Given the description of an element on the screen output the (x, y) to click on. 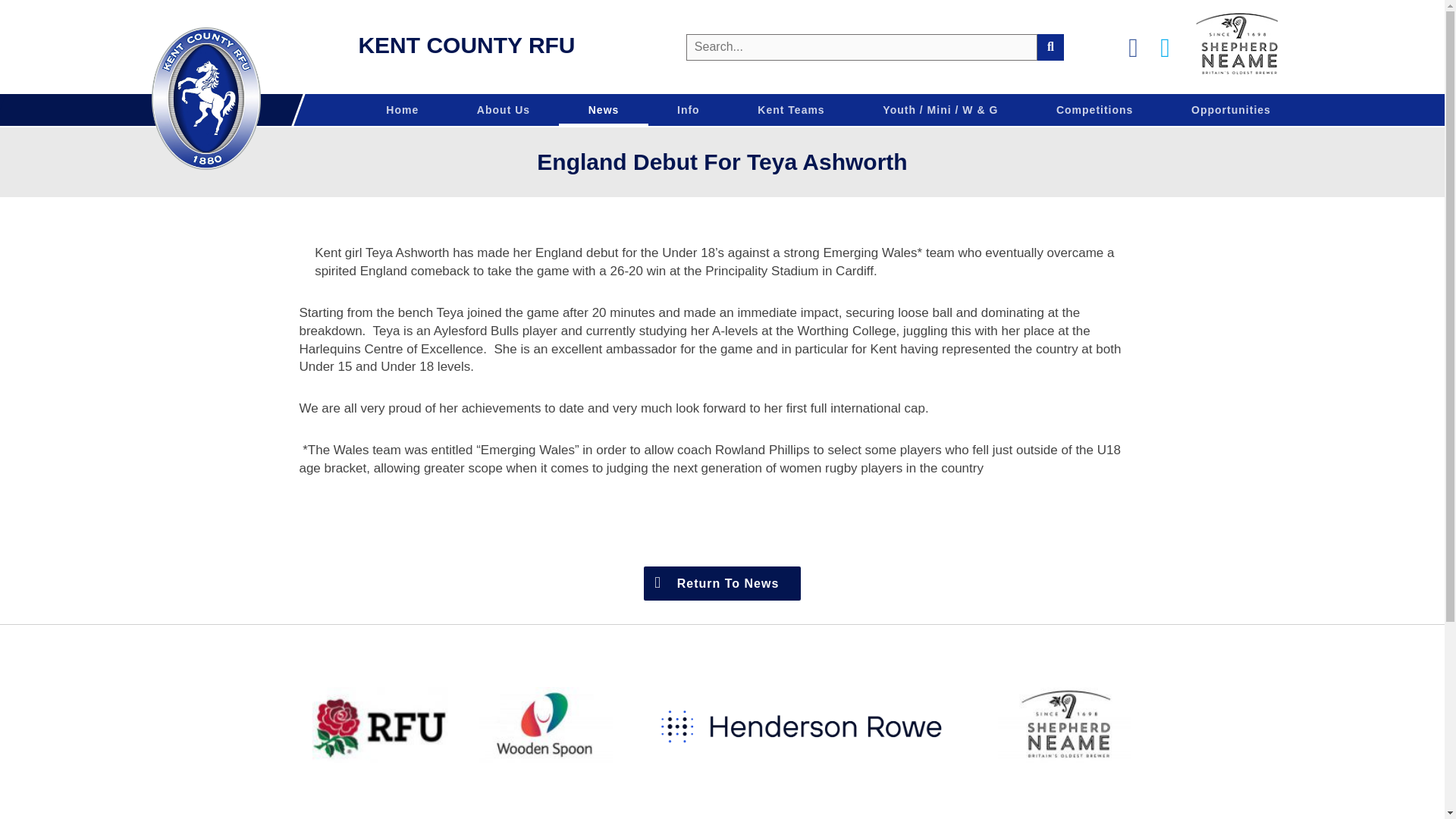
About Us (503, 110)
News (603, 110)
Kent Teams (791, 110)
Info (687, 110)
Home (402, 110)
